Given the description of an element on the screen output the (x, y) to click on. 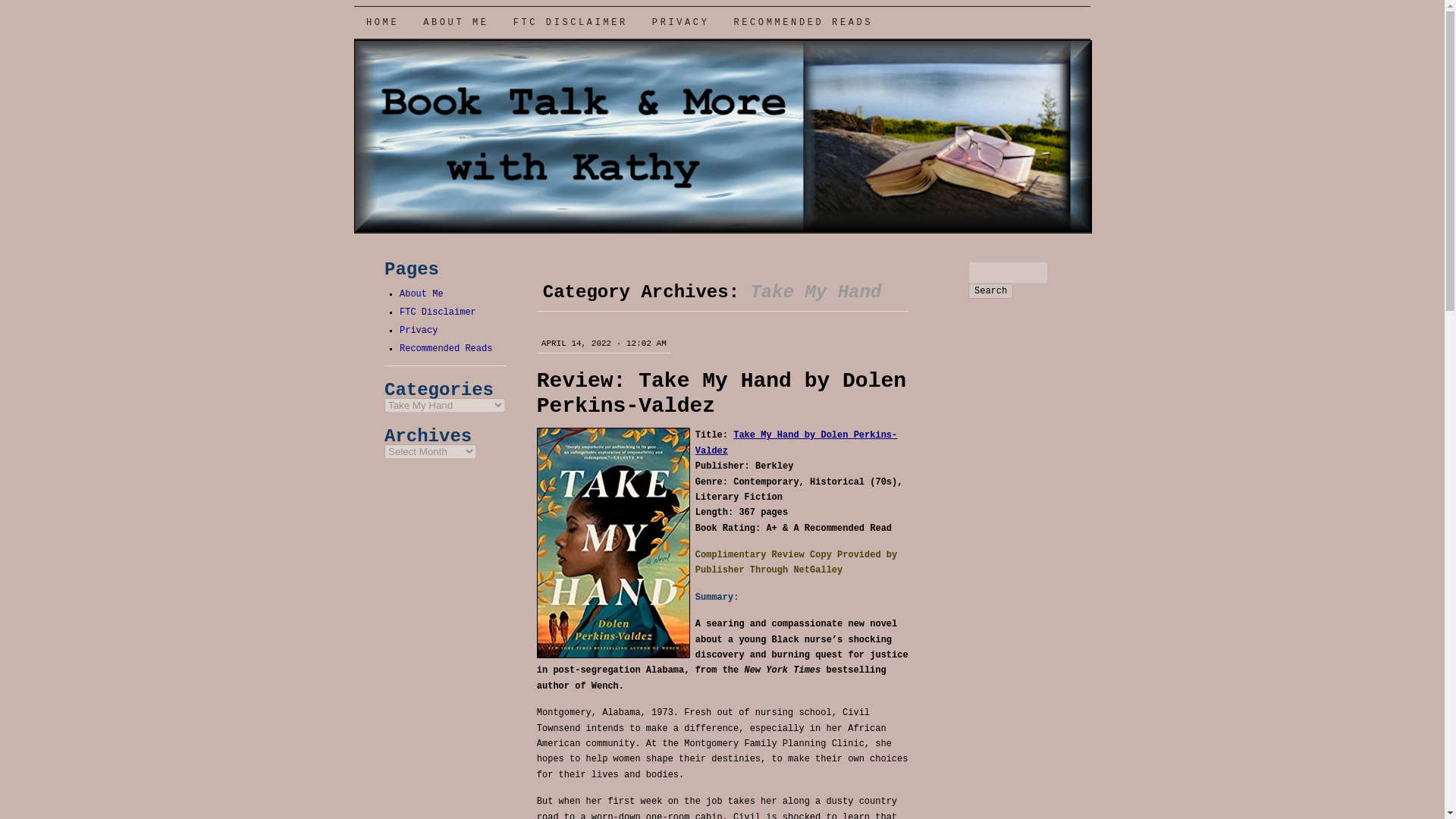
ABOUT ME (455, 22)
Recommended Reads (445, 348)
About Me (421, 294)
RECOMMENDED READS (802, 22)
Search (990, 290)
Review: Take My Hand by Dolen Perkins-Valdez (721, 393)
Take My Hand by Dolen Perkins-Valdez (795, 442)
Privacy (418, 330)
Search (990, 290)
FTC DISCLAIMER (570, 22)
HOME (381, 22)
PRIVACY (681, 22)
FTC Disclaimer (437, 312)
